Given the description of an element on the screen output the (x, y) to click on. 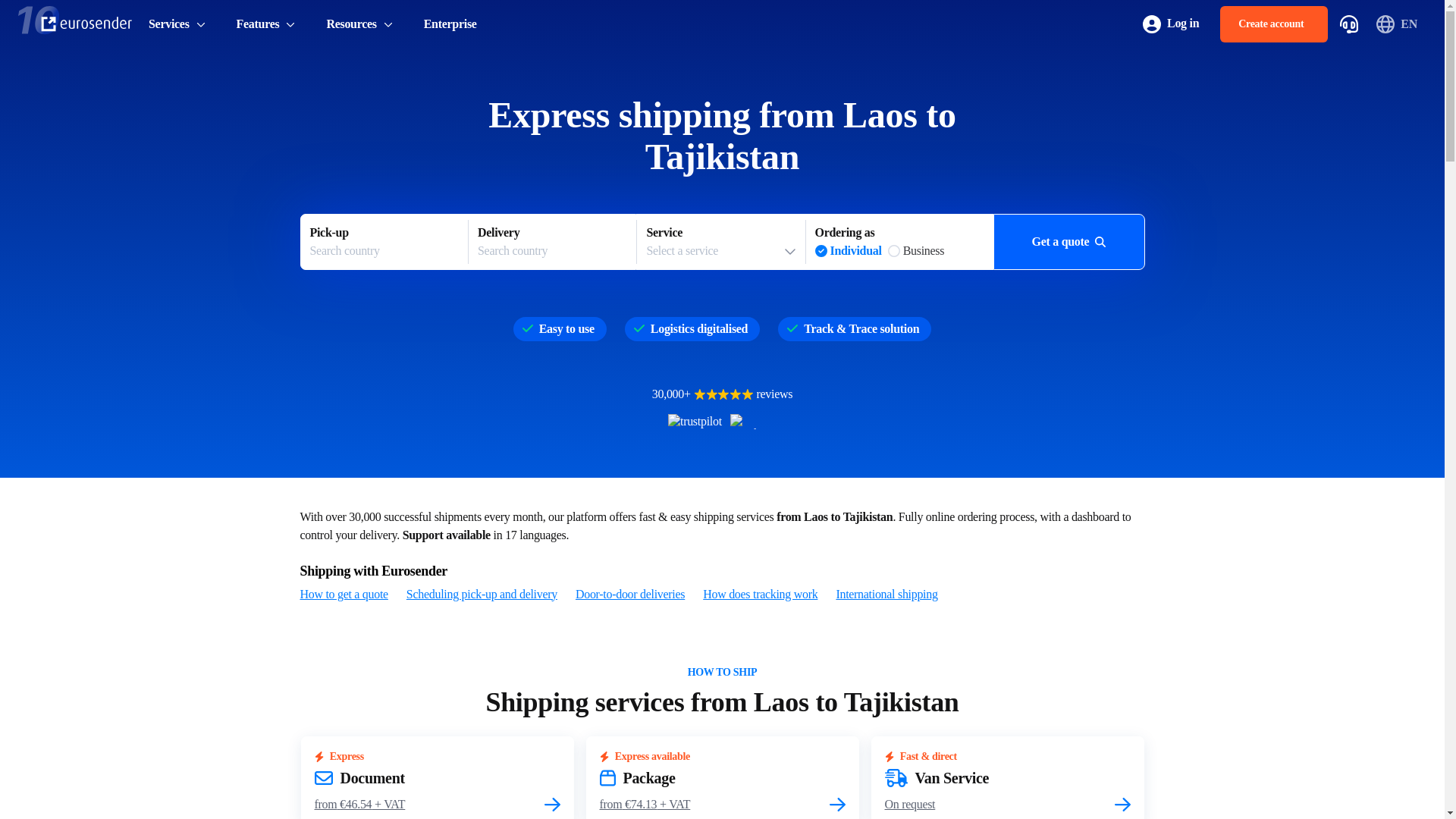
Resources (359, 23)
How to get a quote (343, 594)
Create account (383, 241)
Log in (1273, 23)
How does tracking work (1171, 23)
Services (759, 594)
Get a quote (551, 241)
